Given the description of an element on the screen output the (x, y) to click on. 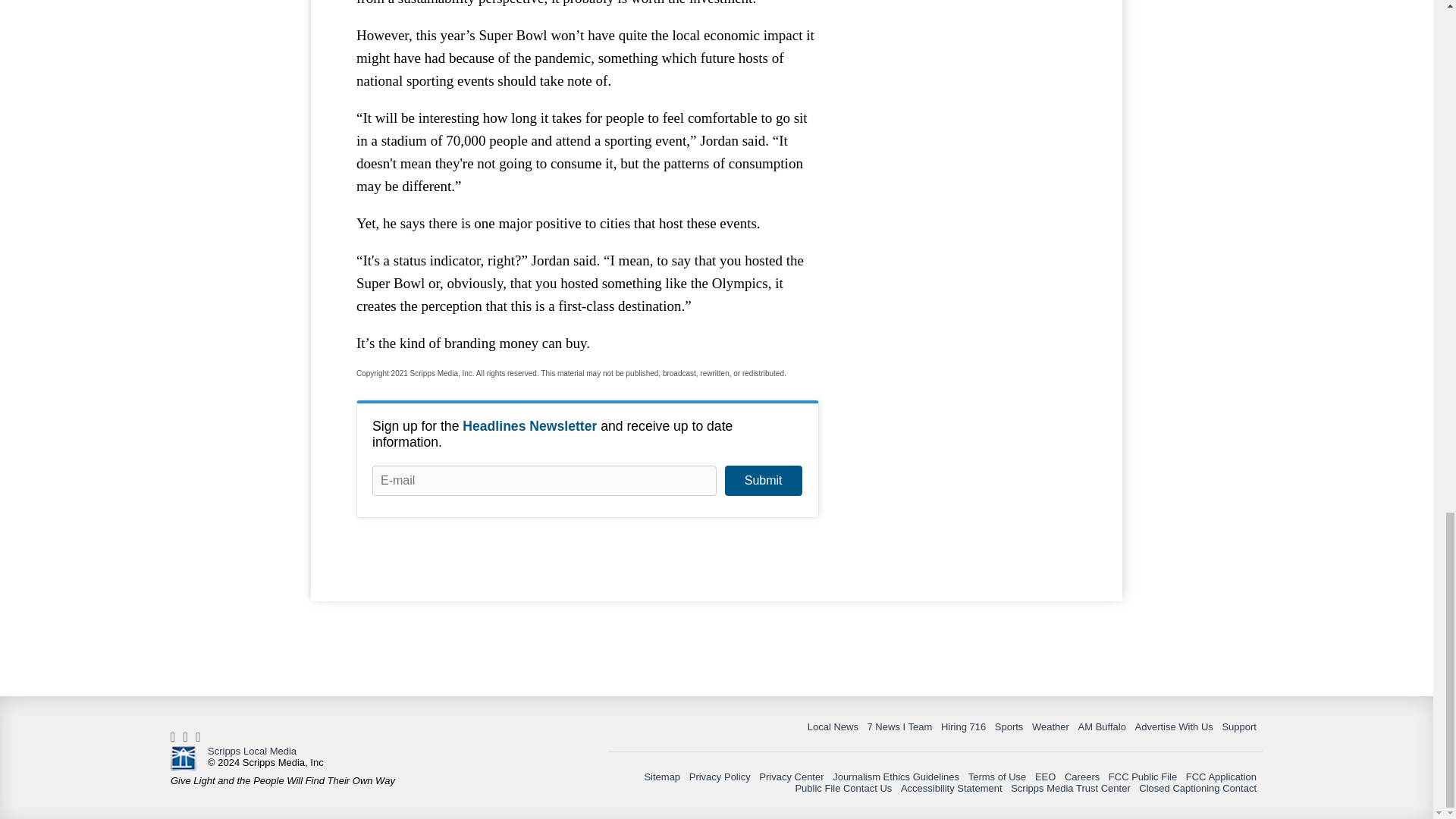
Submit (763, 481)
